Given the description of an element on the screen output the (x, y) to click on. 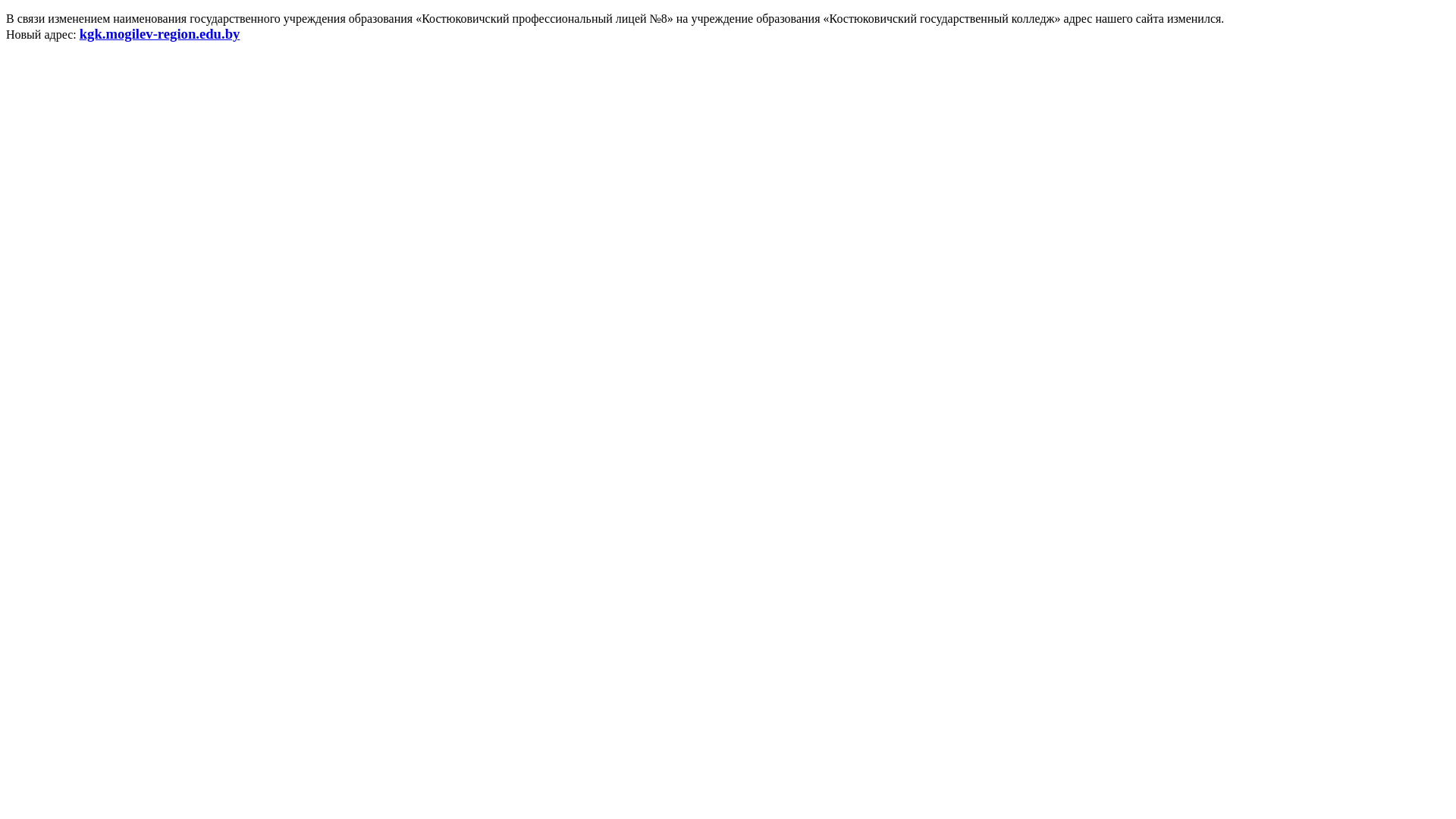
kgk.mogilev-region.edu.by Element type: text (159, 34)
